Given the description of an element on the screen output the (x, y) to click on. 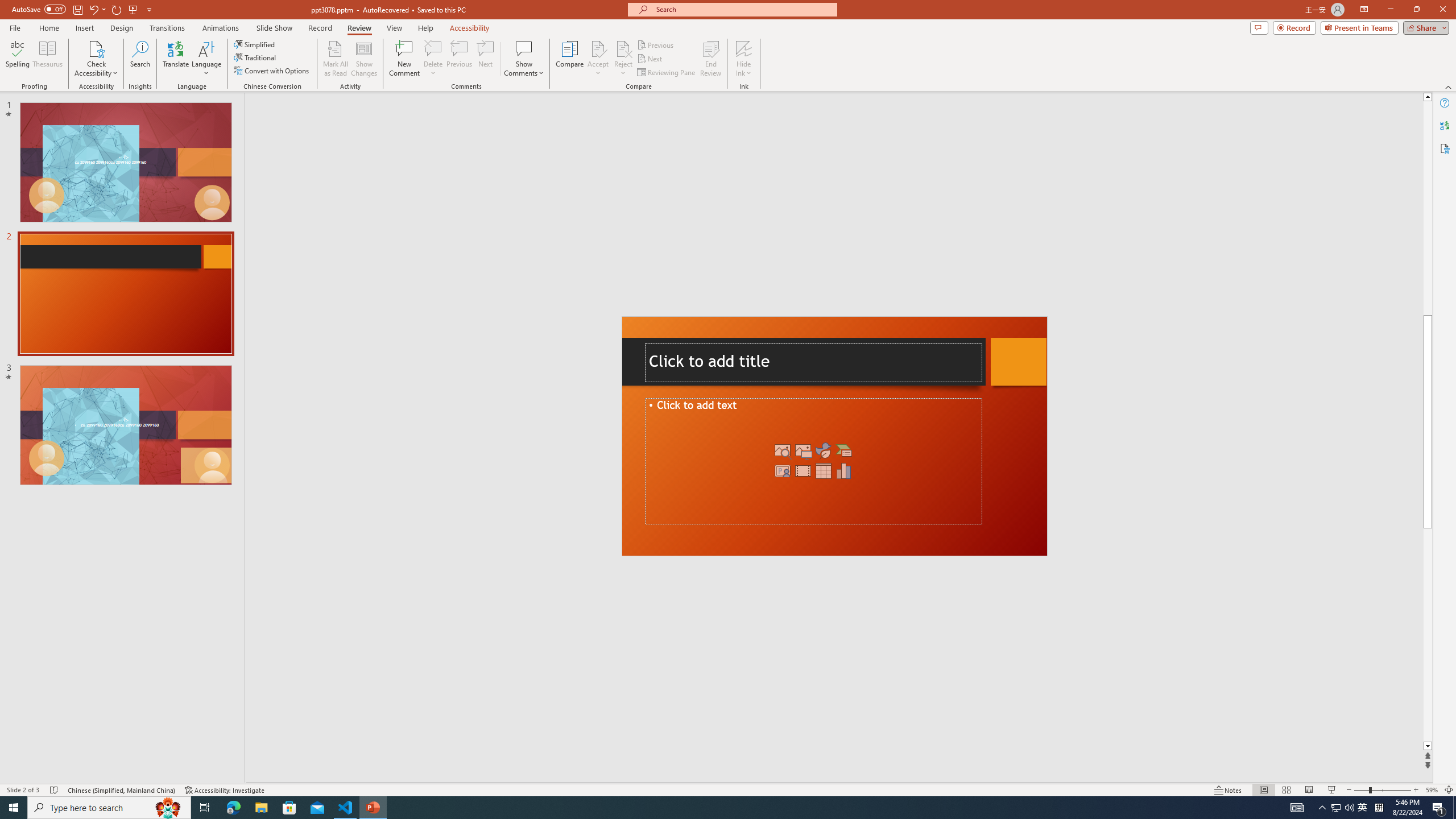
Accept Change (598, 48)
Accept (598, 58)
Convert with Options... (272, 69)
